Given the description of an element on the screen output the (x, y) to click on. 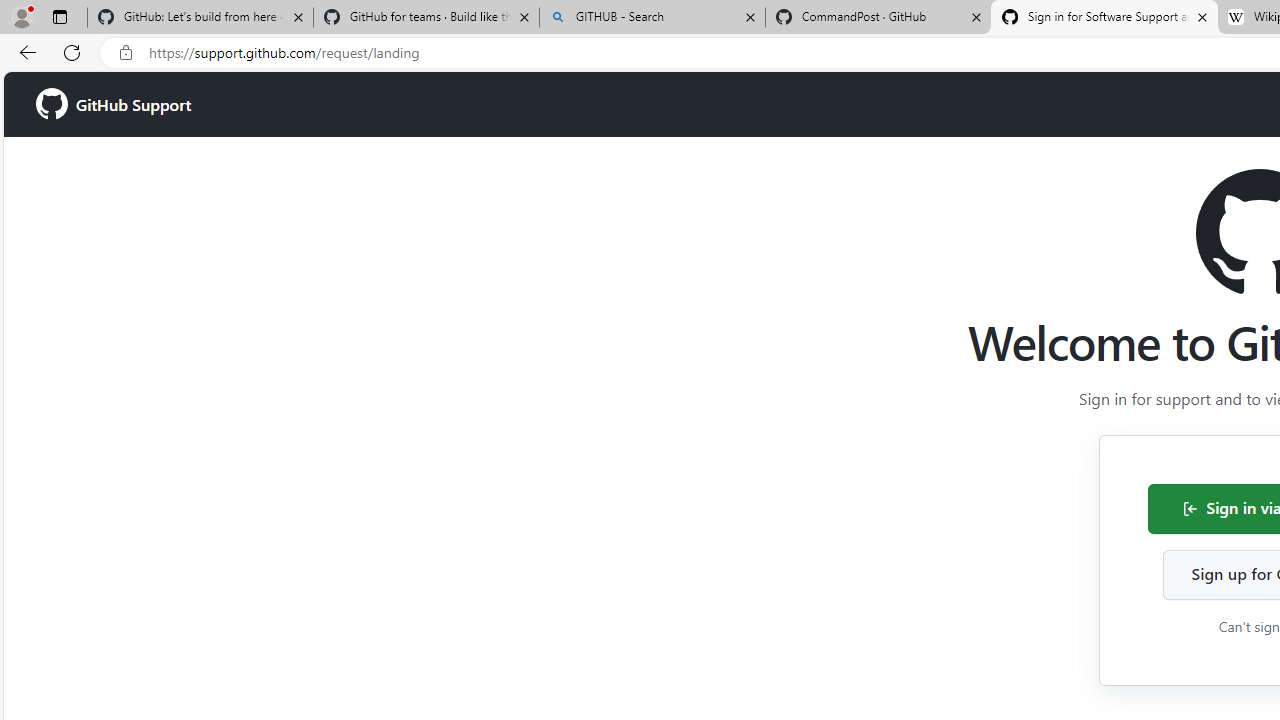
GitHub Support (113, 103)
GITHUB - Search (652, 17)
